Given the description of an element on the screen output the (x, y) to click on. 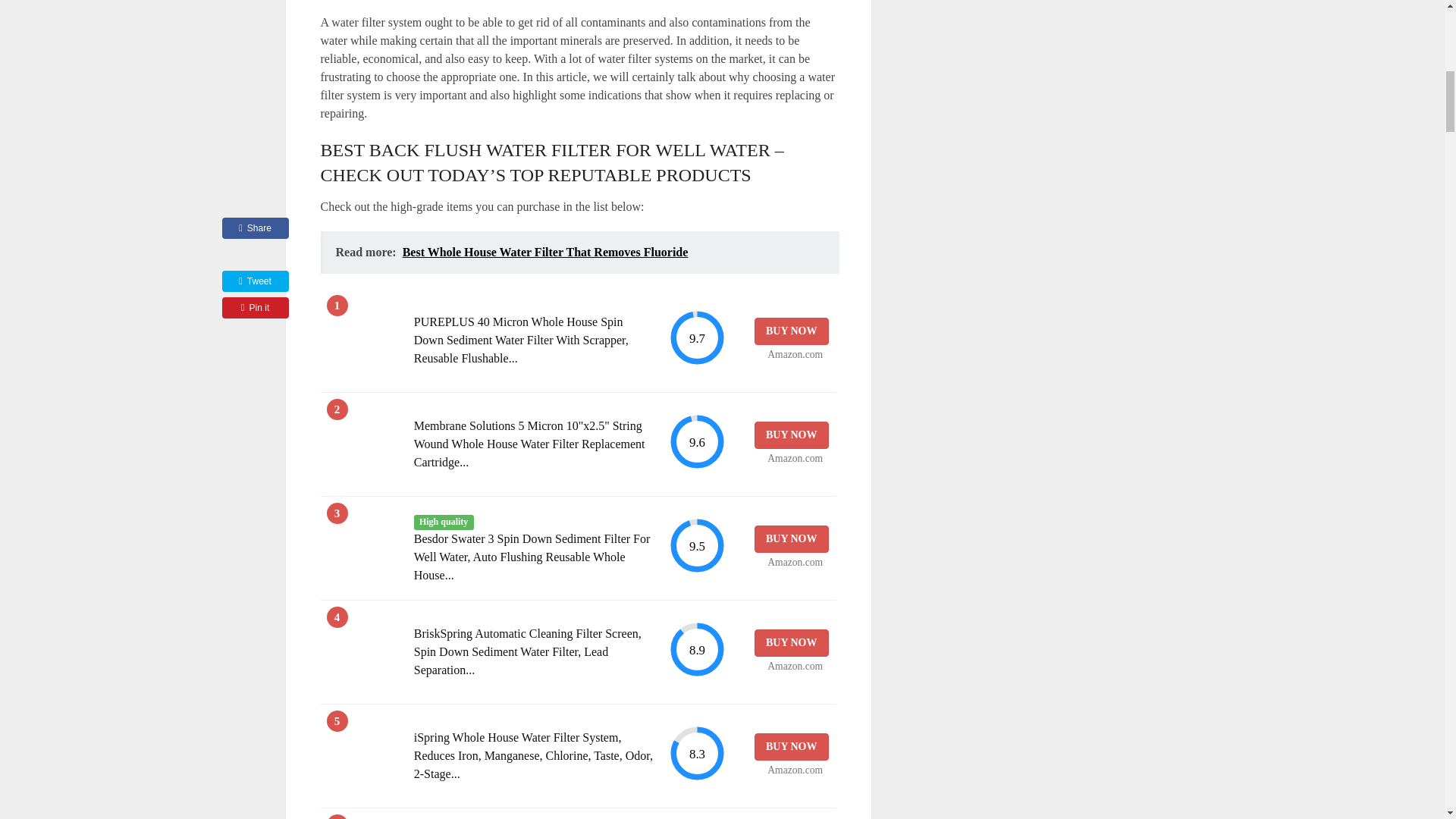
8.3 (696, 753)
9.5 (696, 545)
8.9 (696, 649)
9.6 (696, 441)
9.7 (696, 337)
